Given the description of an element on the screen output the (x, y) to click on. 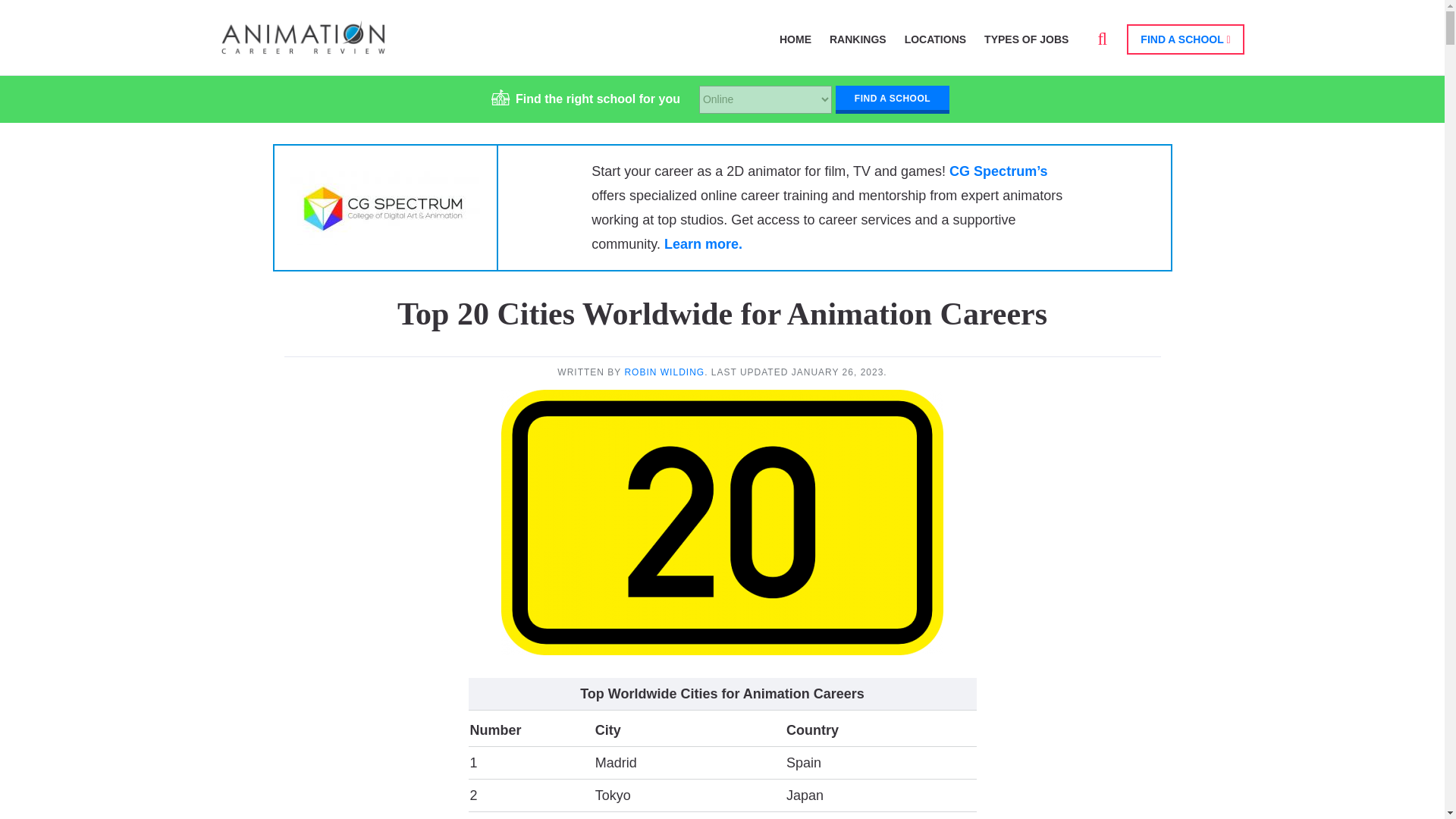
Home (303, 46)
View user profile. (664, 371)
Types of Jobs (1026, 39)
ROBIN WILDING (664, 371)
Rankings (858, 39)
Search (901, 58)
Learn more. (702, 243)
TYPES OF JOBS (1026, 39)
FIND A SCHOOL  (1184, 39)
Find a school (892, 96)
HOME (795, 39)
